Given the description of an element on the screen output the (x, y) to click on. 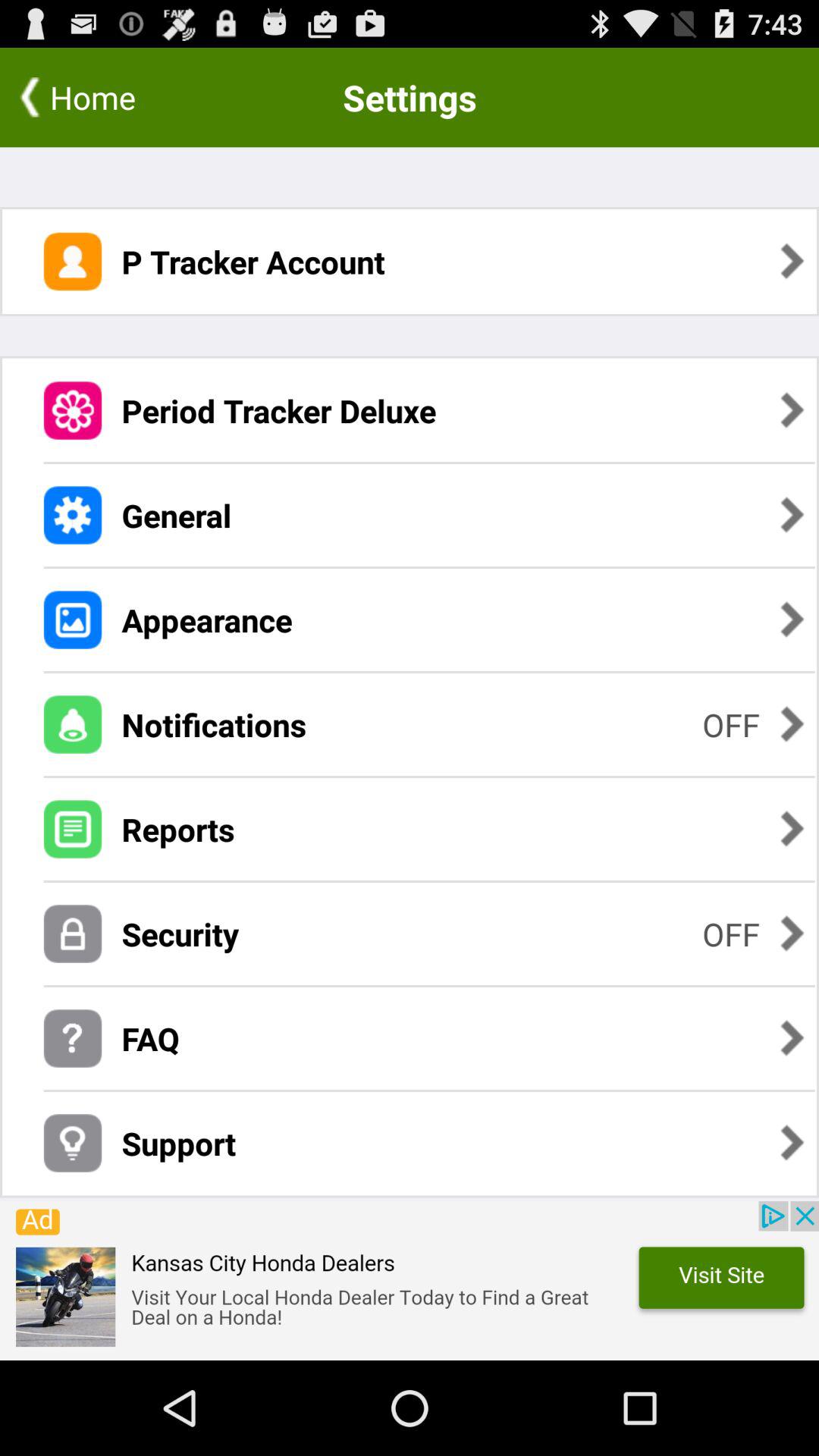
go to site (409, 1280)
